Given the description of an element on the screen output the (x, y) to click on. 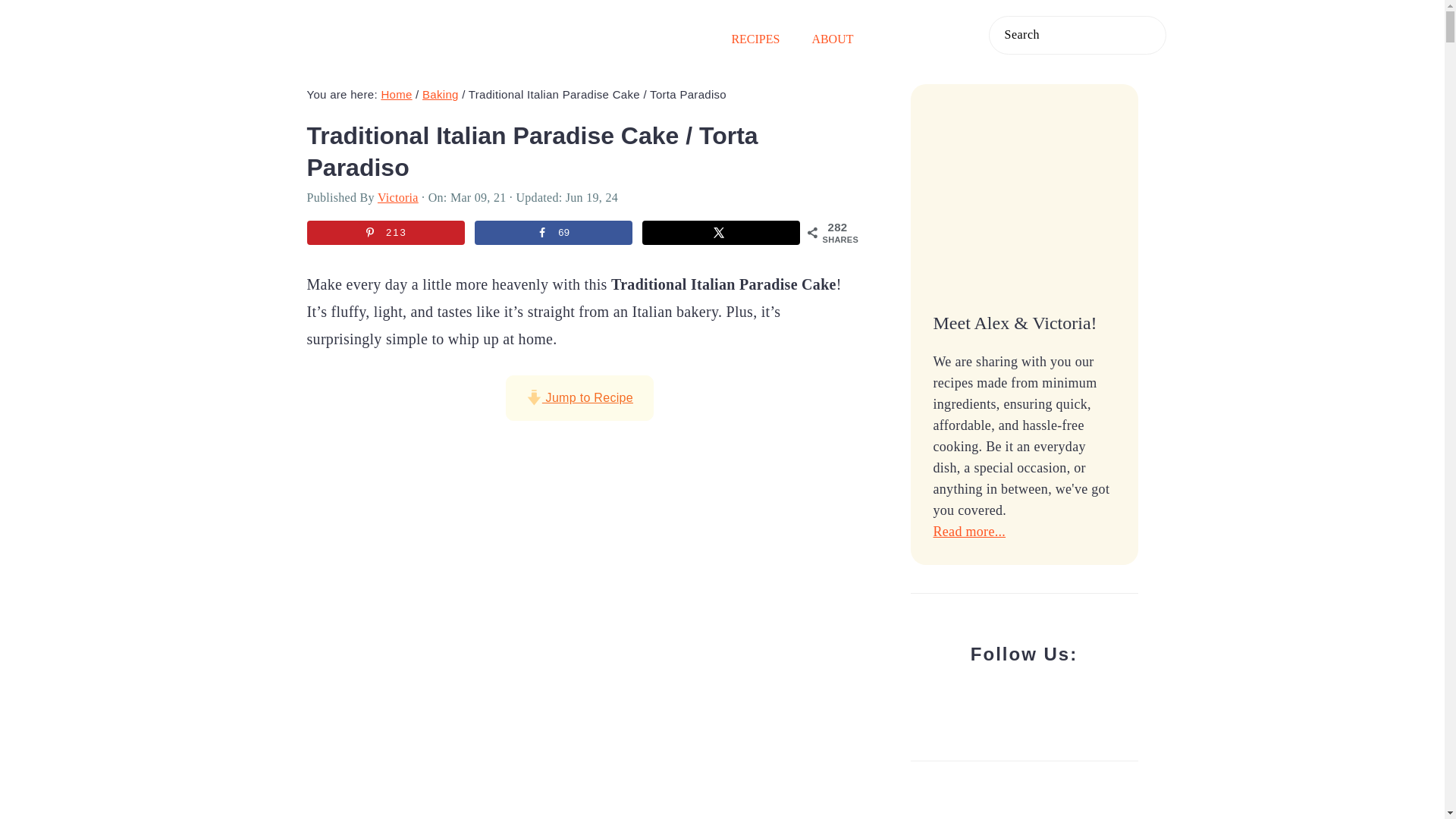
Share on X (720, 232)
Pinterest (934, 37)
Jump to Recipe (579, 397)
ABOUT (831, 39)
Facebook (901, 37)
Share on Facebook (552, 232)
213 (384, 232)
69 (552, 232)
Facebook (903, 37)
